Given the description of an element on the screen output the (x, y) to click on. 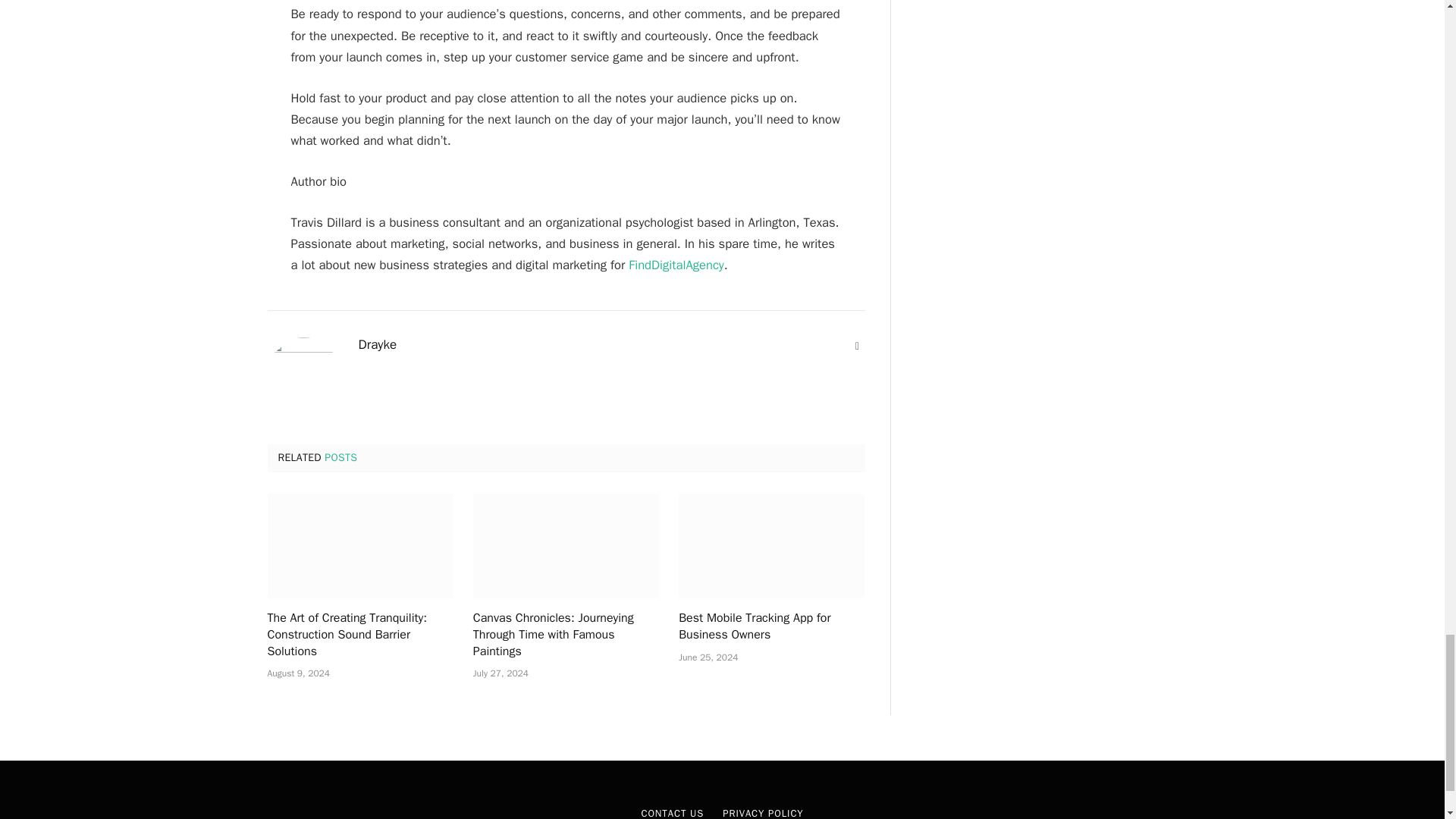
Best Mobile Tracking App for Business Owners (771, 545)
Website (856, 346)
FindDigitalAgency (675, 264)
Drayke (377, 344)
Posts by Drayke (377, 344)
Best Mobile Tracking App for Business Owners (771, 626)
